Given the description of an element on the screen output the (x, y) to click on. 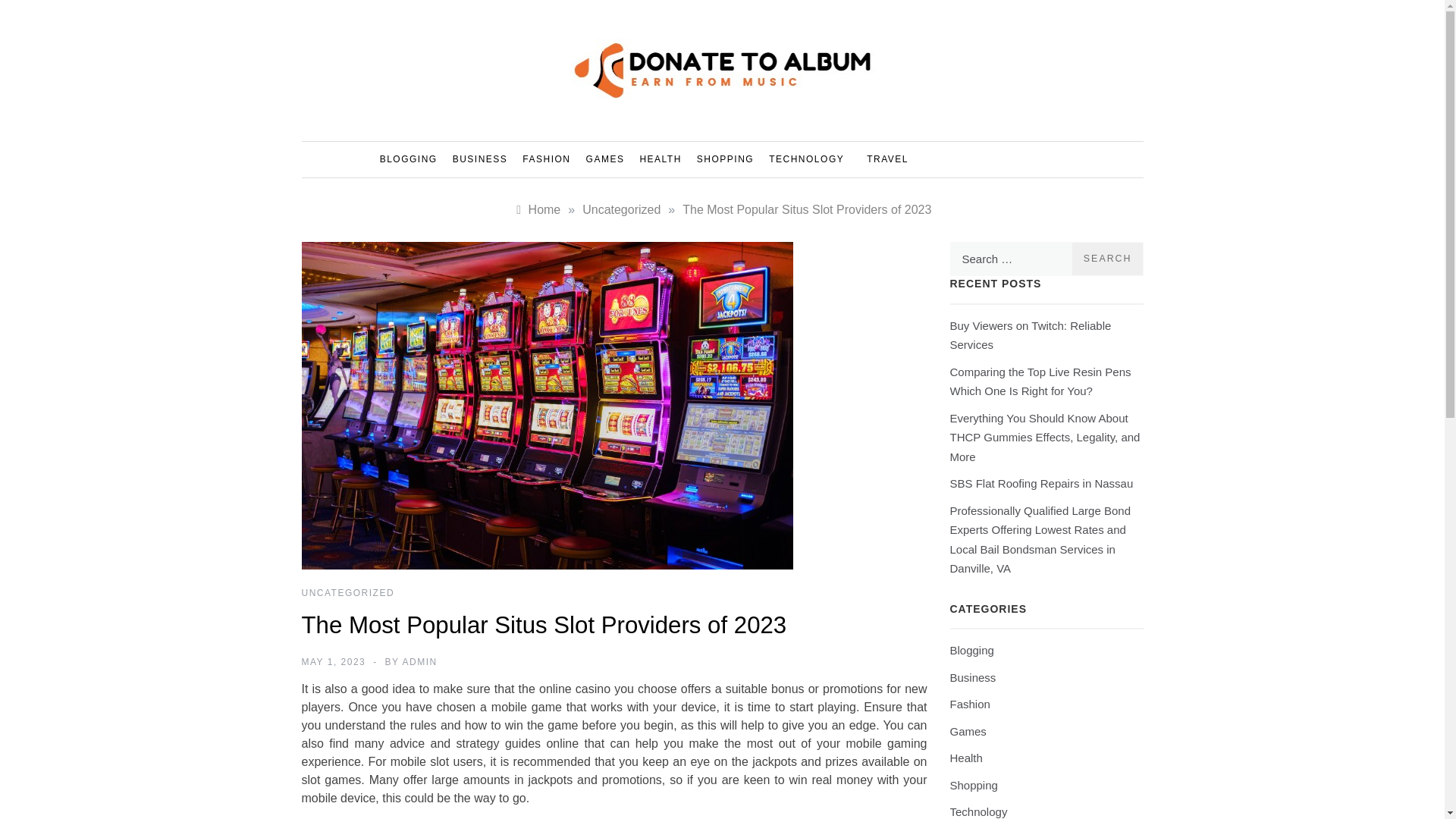
Games (967, 730)
Business (972, 676)
TRAVEL (879, 159)
Search (1106, 258)
GAMES (604, 159)
BUSINESS (480, 159)
Search (1106, 258)
Buy Viewers on Twitch: Reliable Services (1029, 335)
SHOPPING (724, 159)
Technology (978, 811)
BLOGGING (412, 159)
ADMIN (420, 661)
Blogging (970, 649)
Fashion (969, 703)
